Given the description of an element on the screen output the (x, y) to click on. 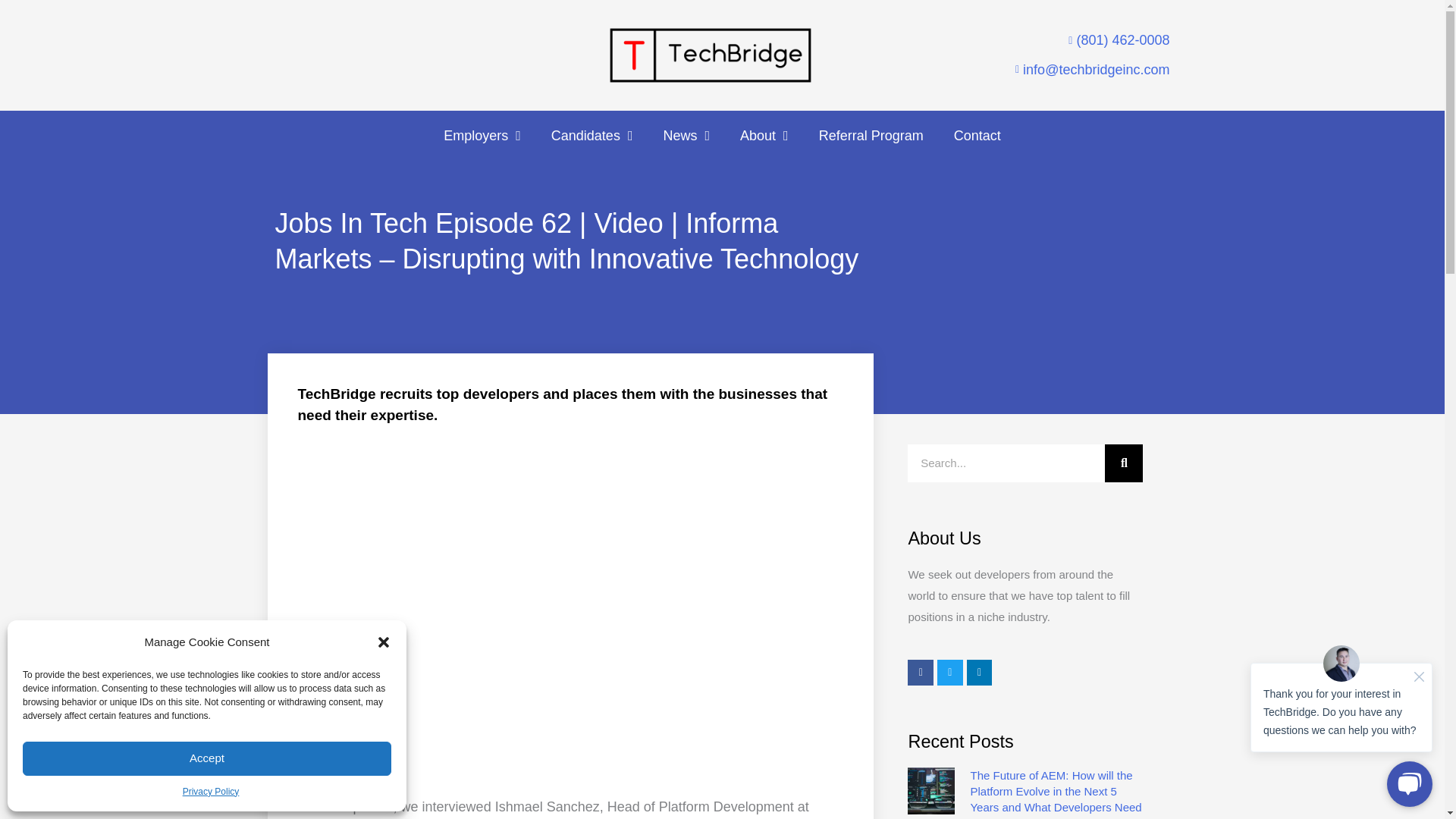
About (764, 135)
News (686, 135)
Referral Program (871, 135)
Privacy Policy (211, 791)
Employers (481, 135)
Accept (207, 758)
Contact (977, 135)
Candidates (591, 135)
